Given the description of an element on the screen output the (x, y) to click on. 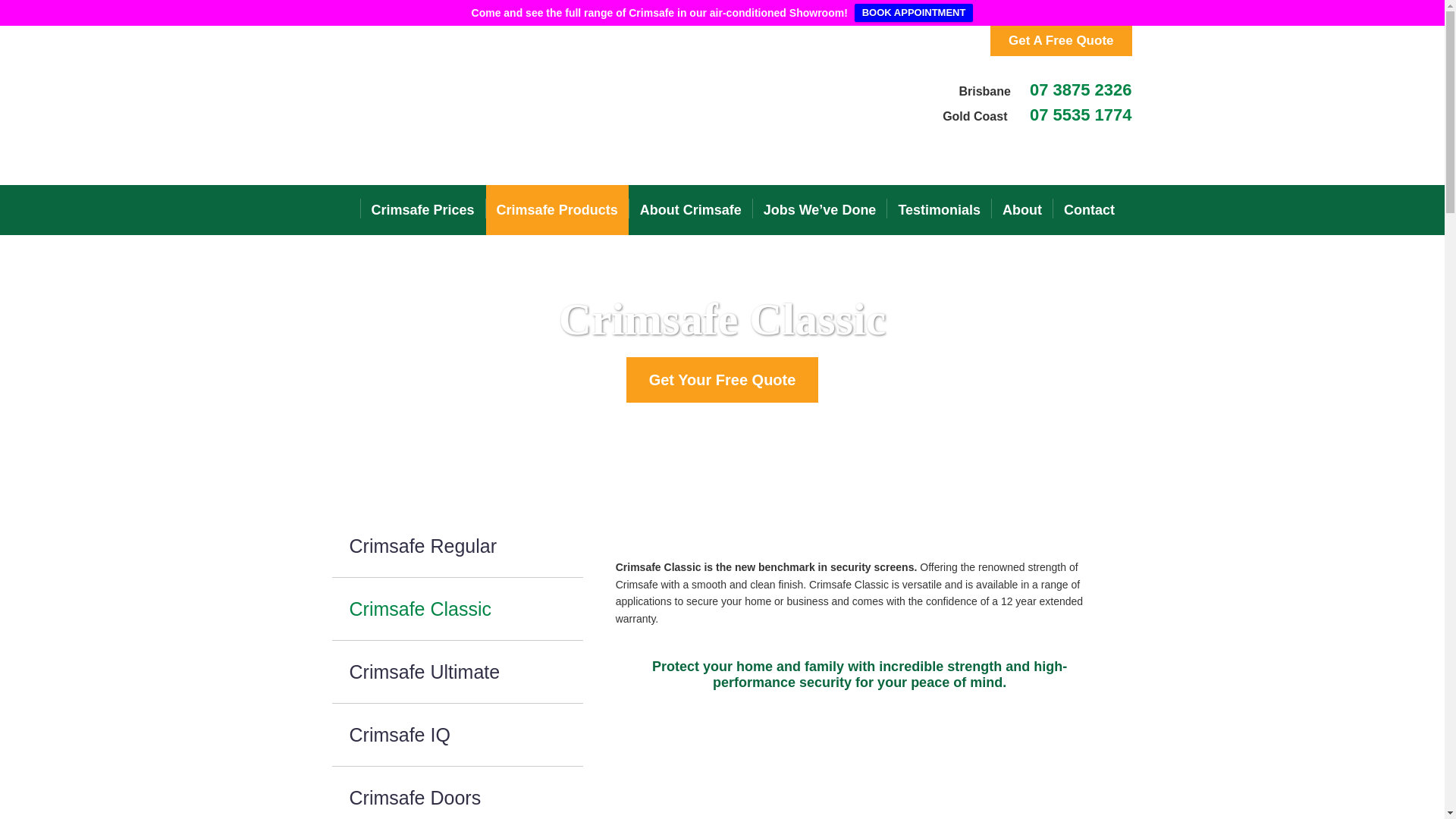
BOOK APPOINTMENT (914, 13)
07 5535 1774 (1080, 114)
Crimsafe Prices (422, 210)
Get A Free Quote (1061, 40)
07 3875 2326 (1080, 89)
Home (336, 210)
Crimsafe Products (557, 210)
